Given the description of an element on the screen output the (x, y) to click on. 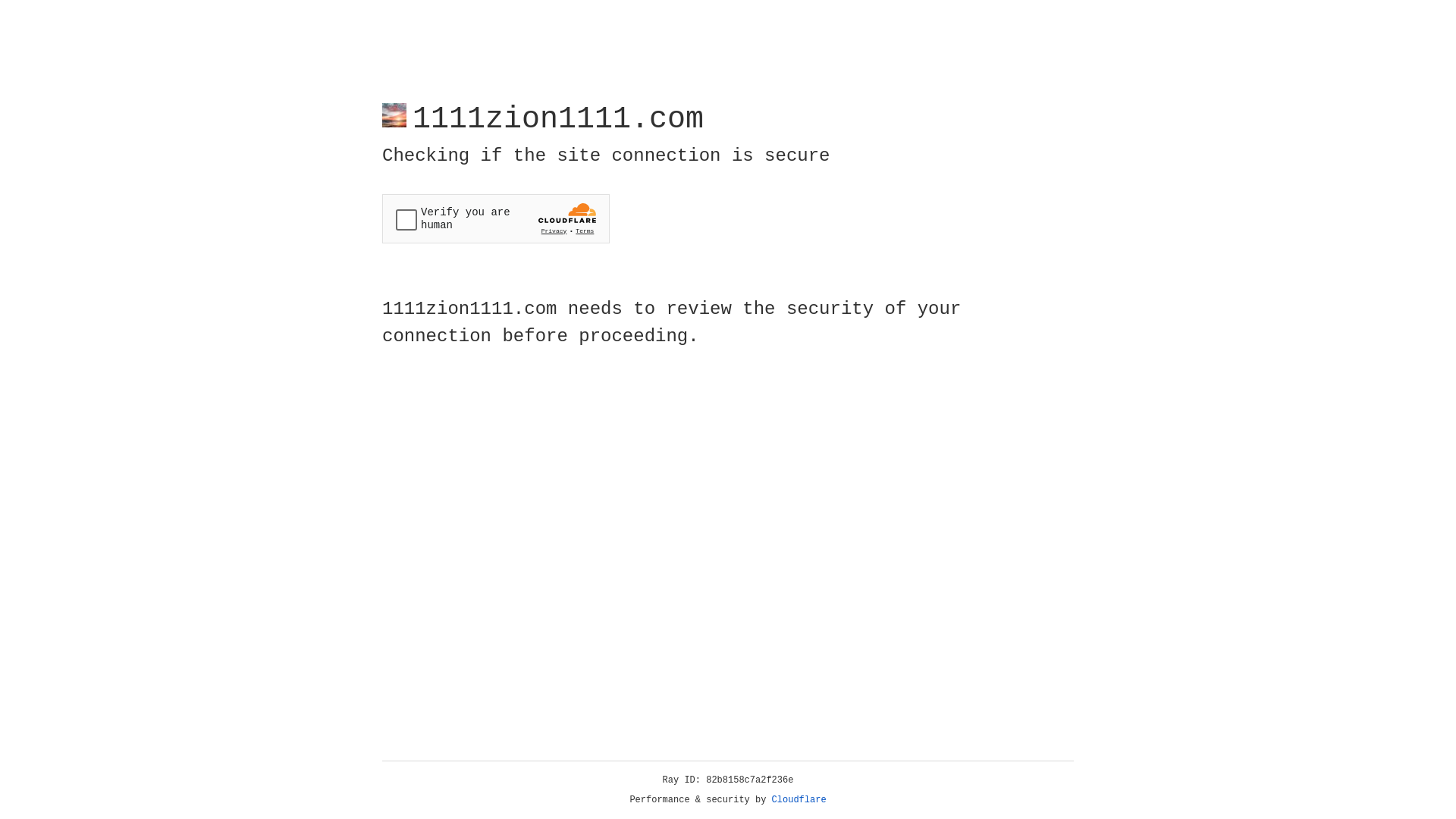
Widget containing a Cloudflare security challenge Element type: hover (495, 218)
Cloudflare Element type: text (798, 799)
